Given the description of an element on the screen output the (x, y) to click on. 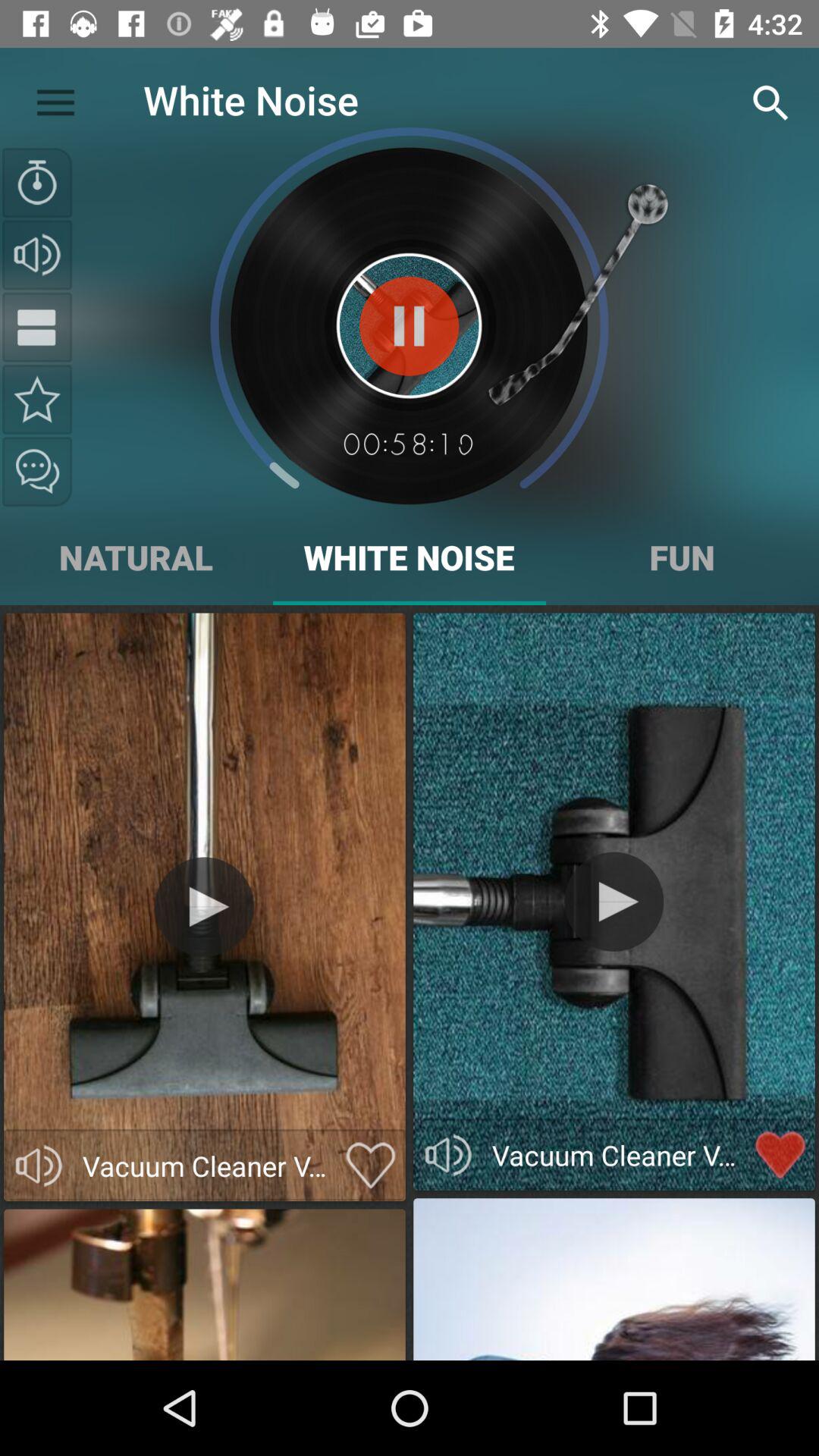
play the vacuum cleaner sound (204, 906)
